Given the description of an element on the screen output the (x, y) to click on. 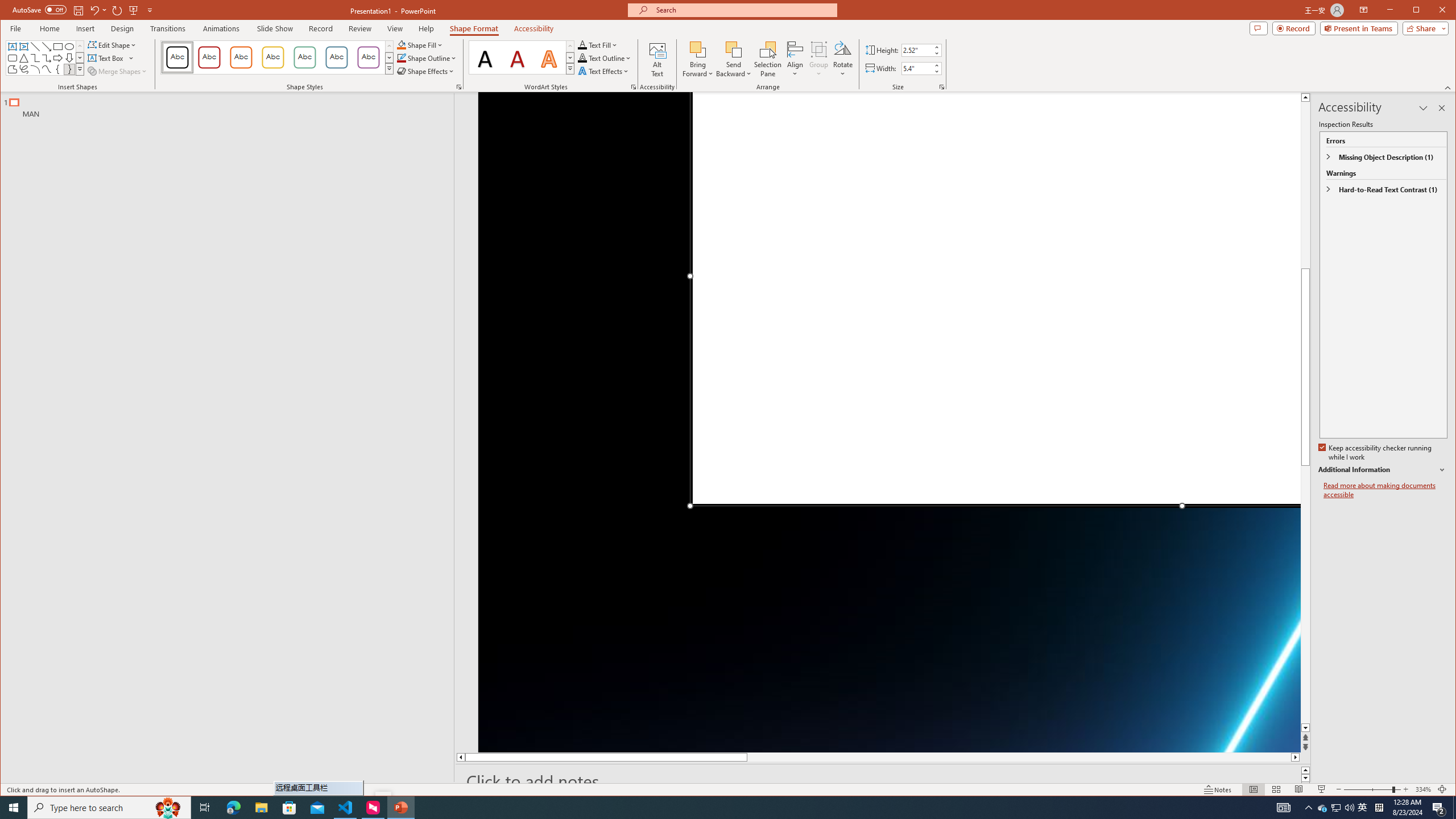
Bring Forward (697, 59)
Draw Horizontal Text Box (106, 57)
